Given the description of an element on the screen output the (x, y) to click on. 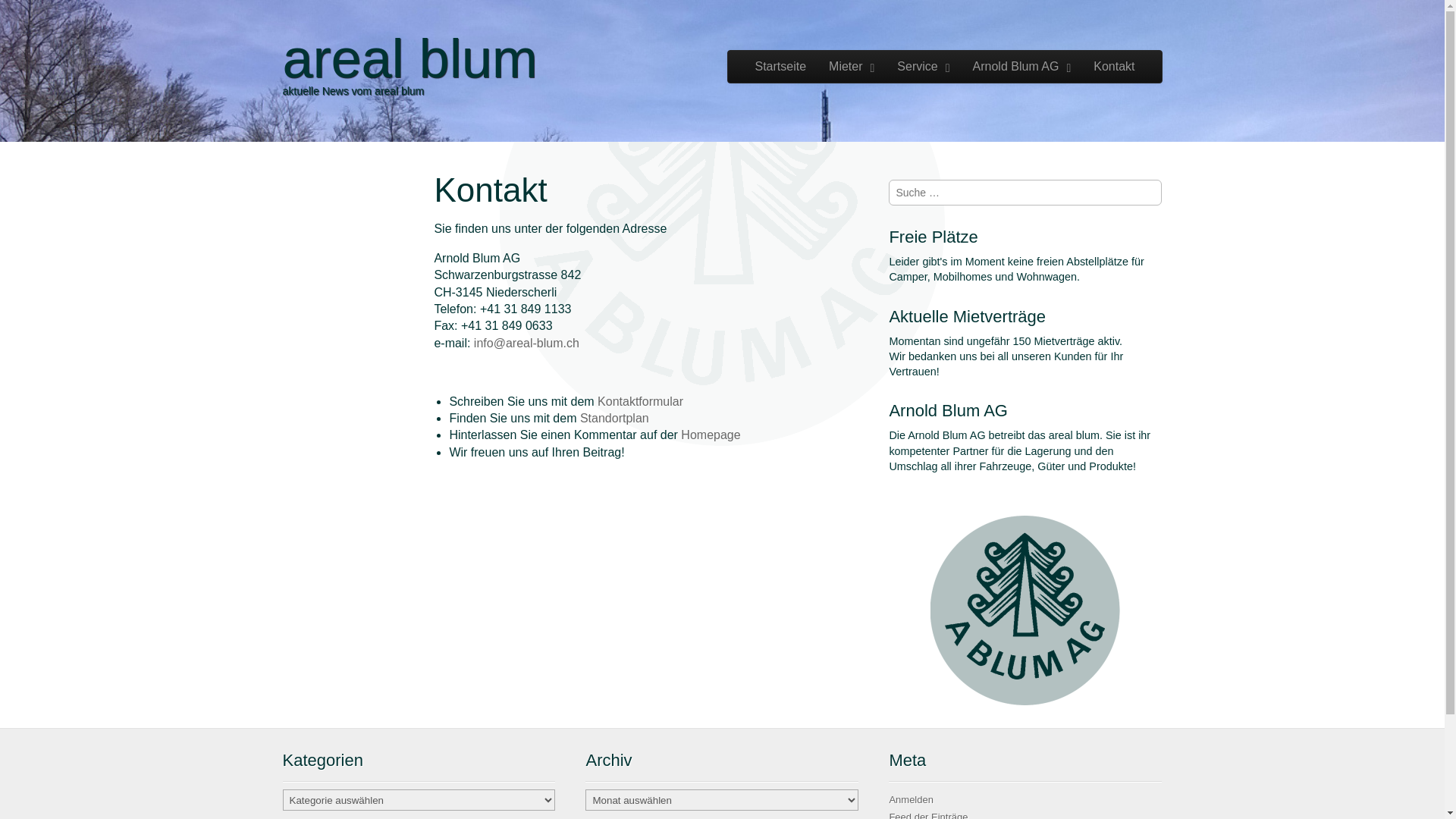
Suche Element type: text (26, 11)
Skip to content Element type: text (767, 58)
Homepage Element type: text (710, 434)
Standortplan Element type: text (614, 417)
Kontakt Element type: text (1113, 66)
Kontaktformular Element type: text (640, 401)
Service Element type: text (922, 66)
Arnold Blum AG Element type: text (1021, 66)
areal blum Element type: text (409, 58)
info@areal-blum.ch Element type: text (526, 342)
Startseite Element type: text (780, 66)
Anmelden Element type: text (910, 799)
Mieter Element type: text (851, 66)
